Given the description of an element on the screen output the (x, y) to click on. 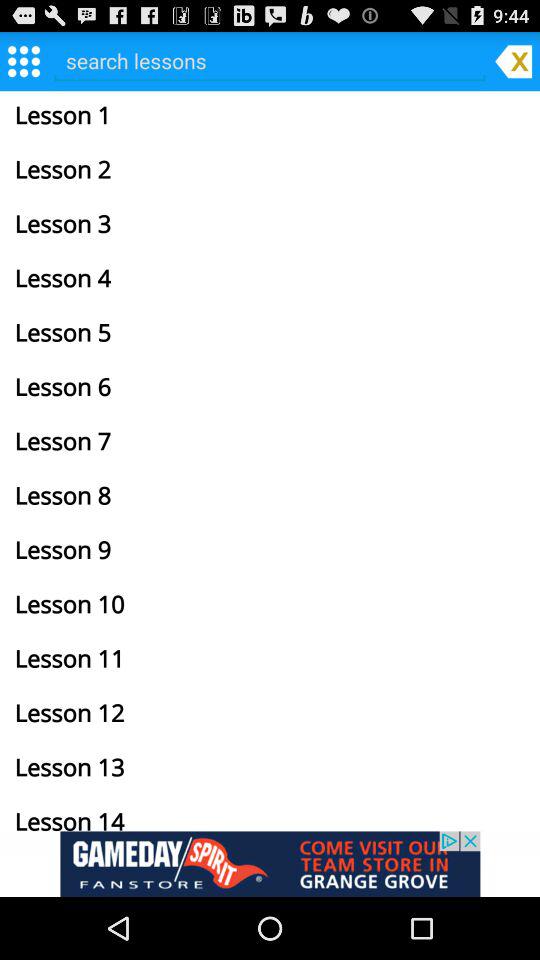
main menu (23, 60)
